Given the description of an element on the screen output the (x, y) to click on. 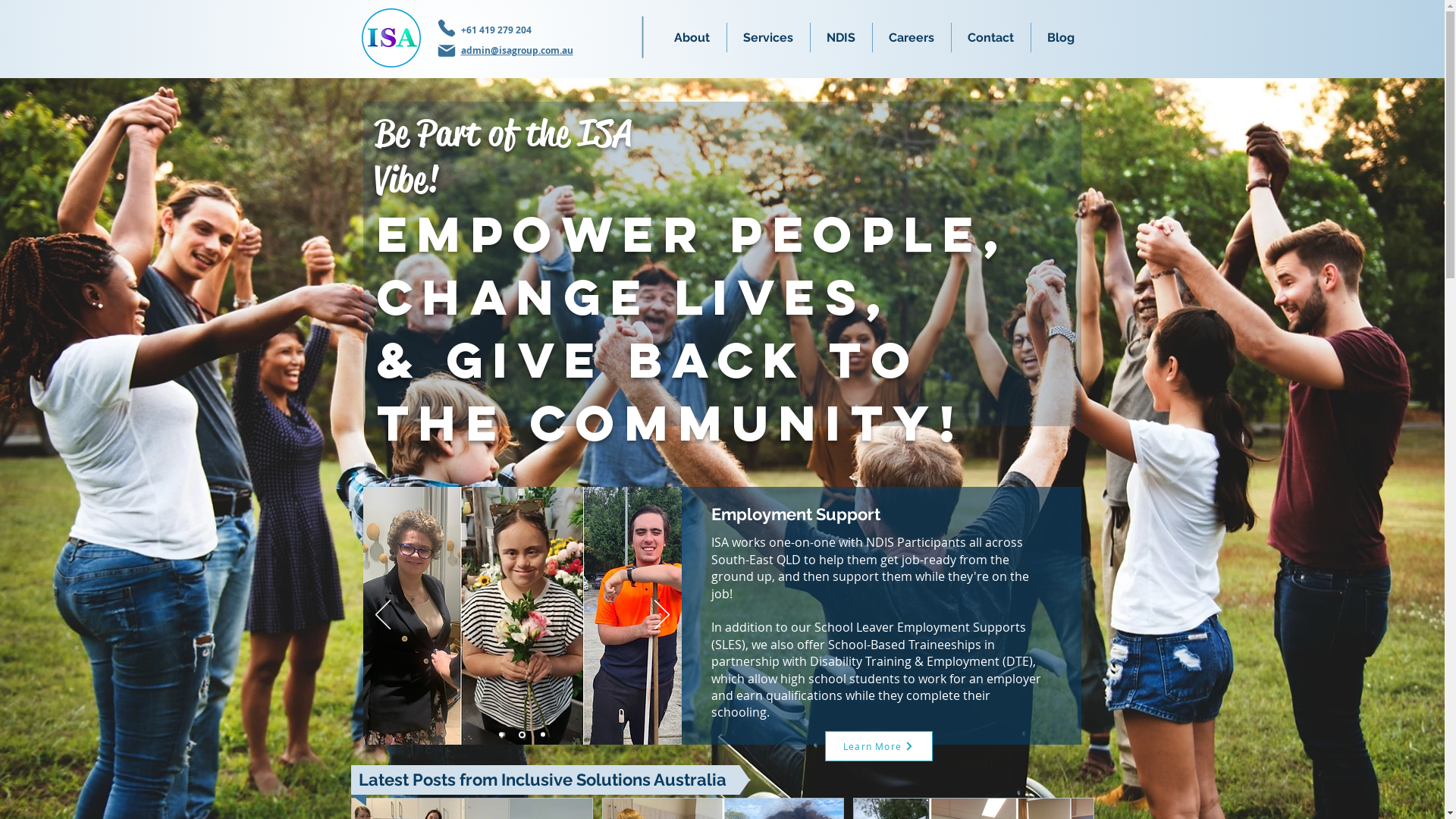
Contact Element type: text (989, 37)
Careers Element type: text (911, 37)
NDIS Element type: text (840, 37)
Services Element type: text (767, 37)
admin@isagroup.com.au Element type: text (517, 49)
About Element type: text (690, 37)
Blog Element type: text (1061, 37)
